Given the description of an element on the screen output the (x, y) to click on. 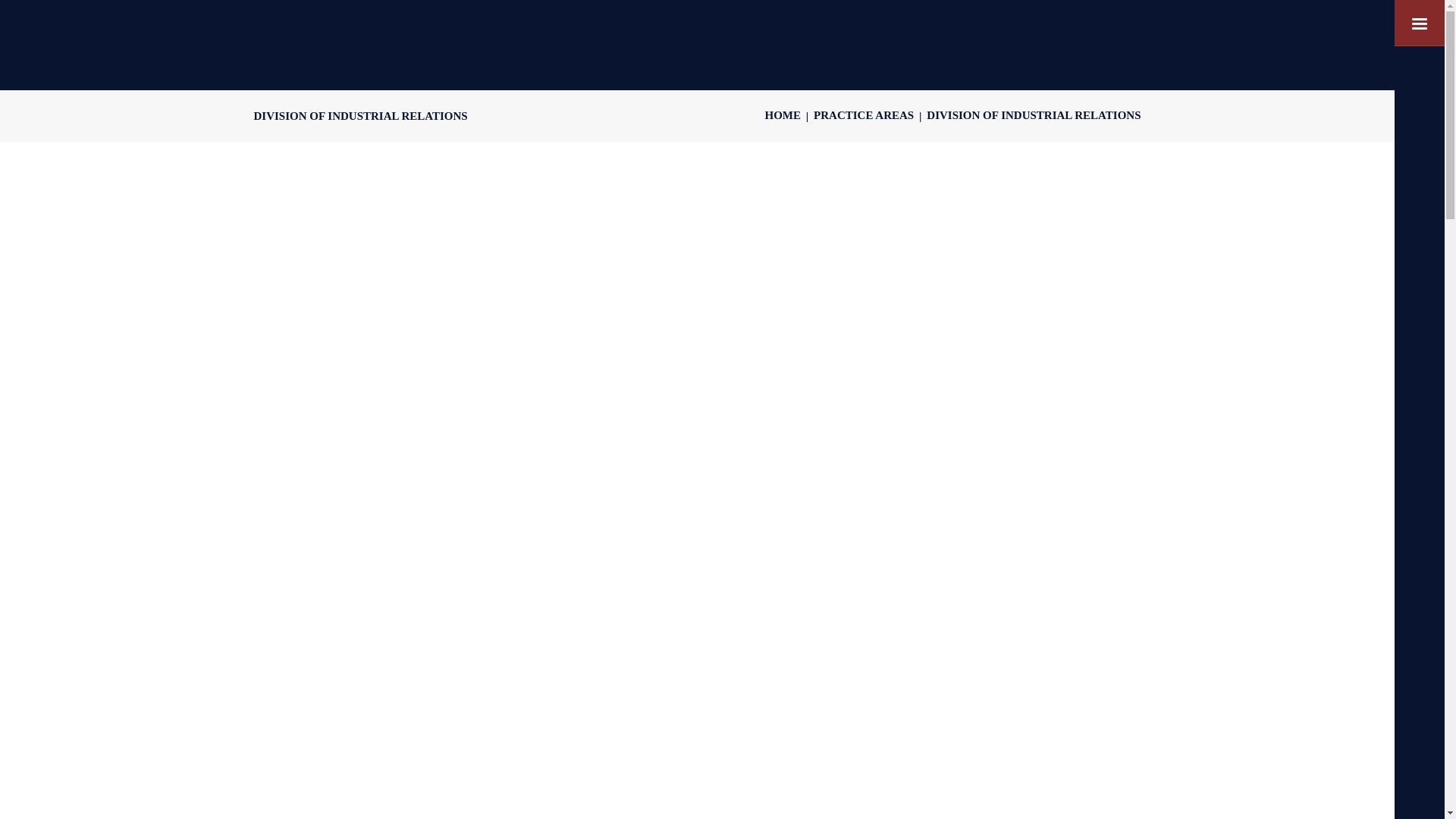
HOME (782, 115)
PRACTICE AREAS (863, 115)
